Given the description of an element on the screen output the (x, y) to click on. 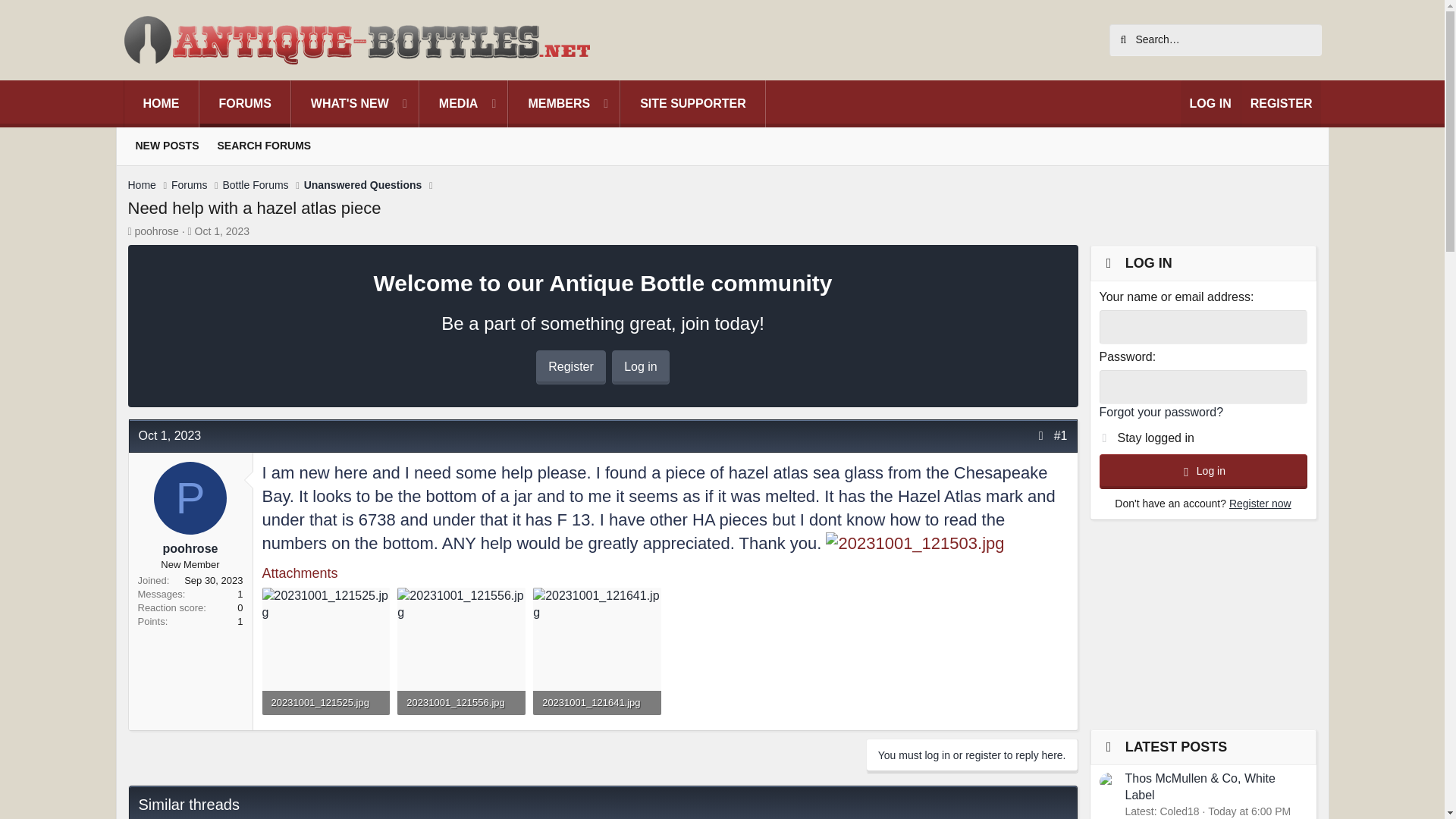
NEW POSTS (166, 146)
REGISTER (1281, 103)
WHAT'S NEW (341, 103)
Oct 1, 2023 at 11:23 PM (221, 231)
SEARCH FORUMS (264, 146)
HOME (160, 103)
MEMBERS (550, 103)
FORUMS (244, 103)
Oct 1, 2023 at 11:23 PM (169, 435)
MEDIA (444, 103)
LOG IN (450, 103)
SITE SUPPORTER (1210, 103)
